Given the description of an element on the screen output the (x, y) to click on. 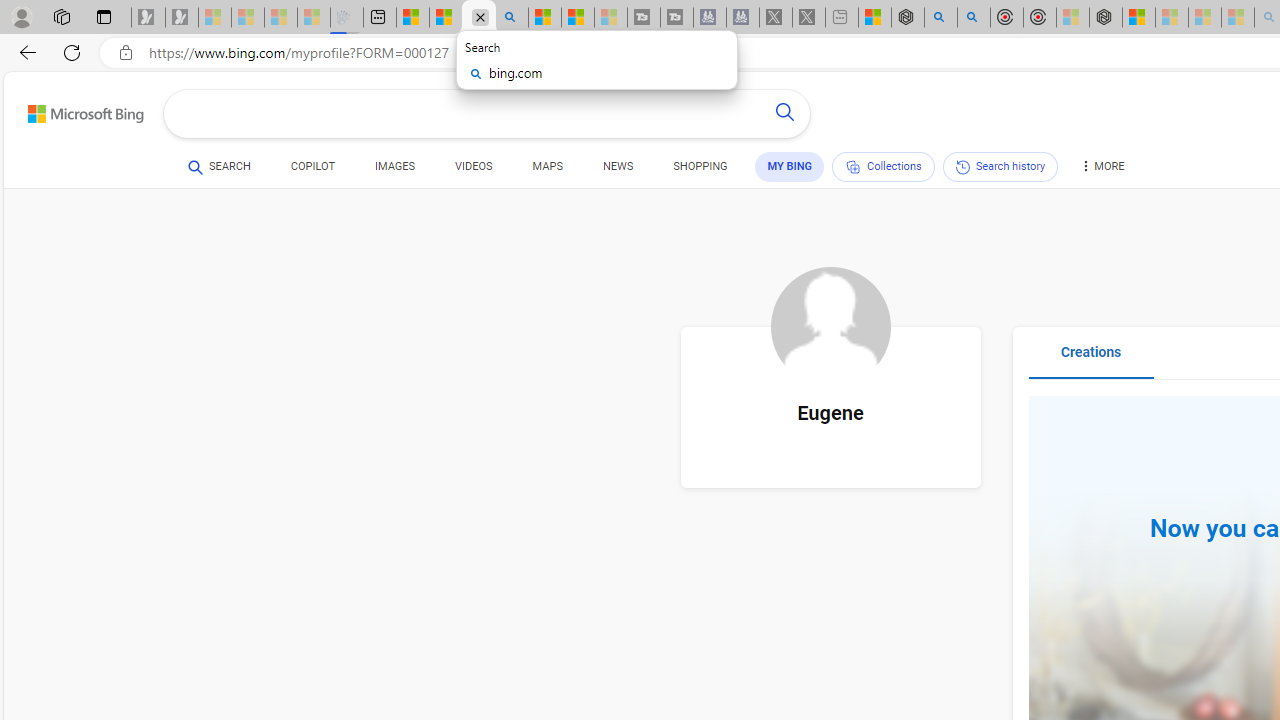
SEARCH (219, 166)
MAPS (546, 166)
